Given the description of an element on the screen output the (x, y) to click on. 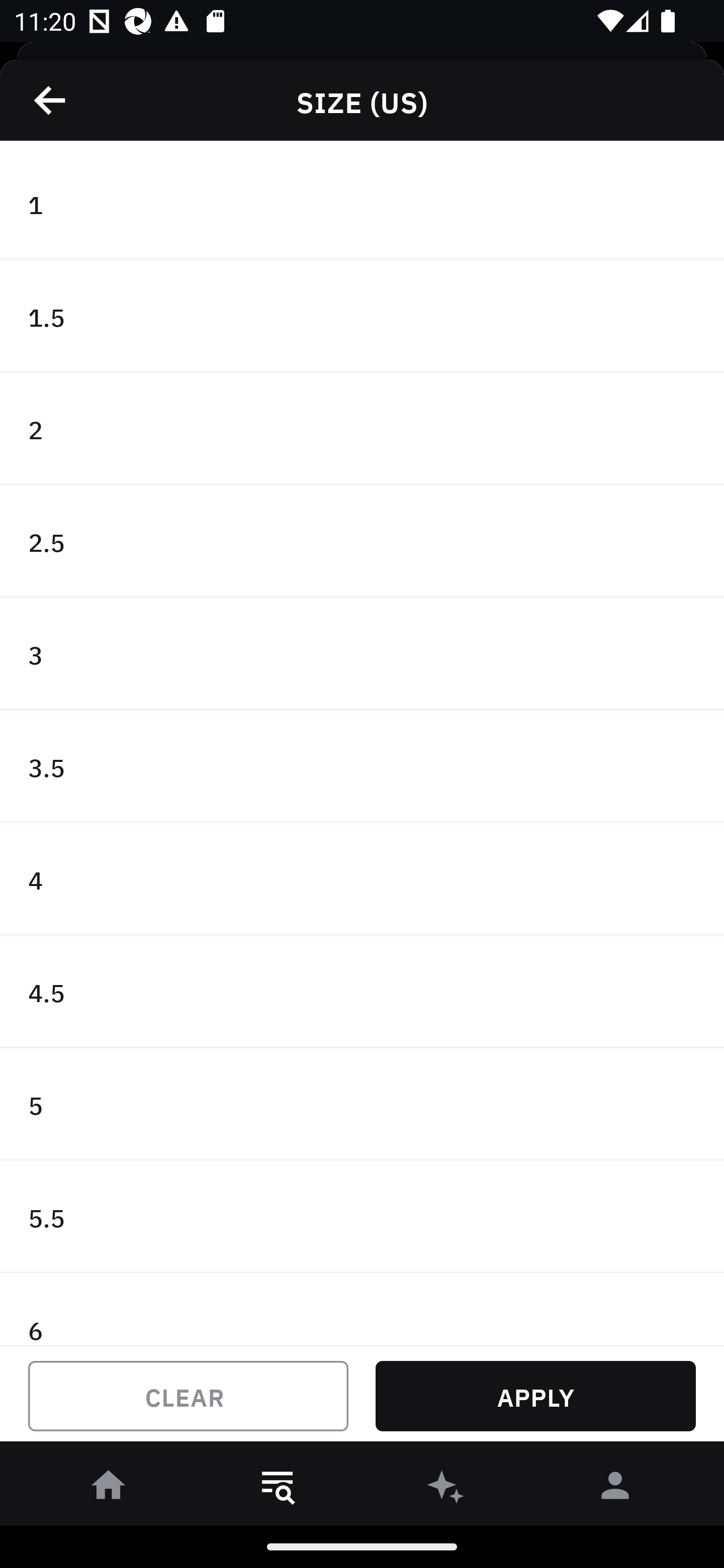
 (50, 100)
1 (362, 203)
1.5 (362, 316)
2 (362, 429)
2.5 (362, 541)
3 (362, 653)
3.5 (362, 766)
4 (362, 879)
4.5 (362, 992)
5 (362, 1104)
5.5 (362, 1216)
6 (362, 1309)
CLEAR  (188, 1396)
APPLY (535, 1396)
󰋜 (108, 1488)
󱎸 (277, 1488)
󰫢 (446, 1488)
󰀄 (615, 1488)
